Given the description of an element on the screen output the (x, y) to click on. 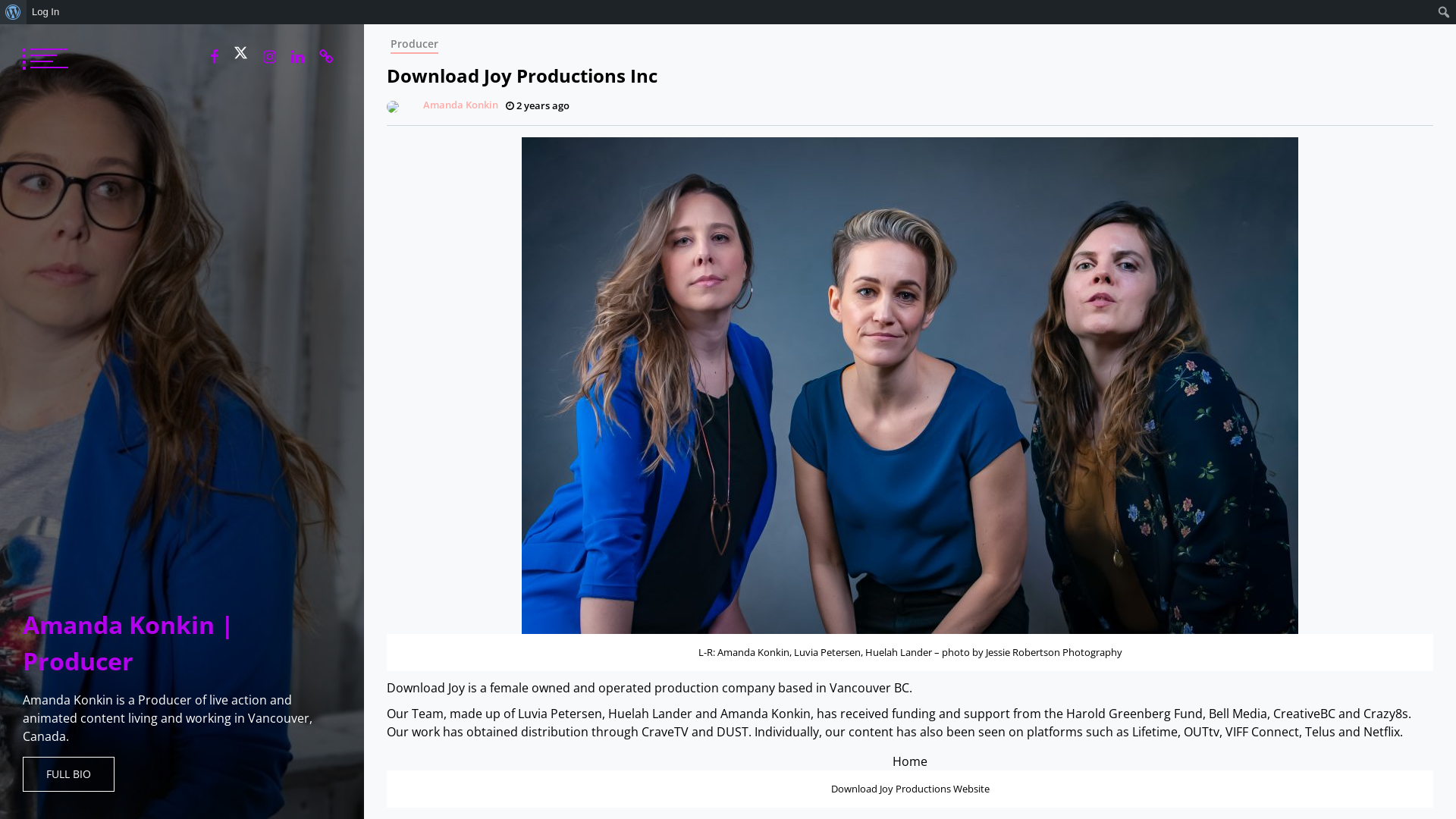
Log In Element type: text (45, 12)
Amanda Konkin | Producer Element type: text (128, 642)
Facebook Element type: text (213, 56)
Linked In Element type: text (297, 56)
Home Element type: text (909, 761)
Instagram Element type: text (269, 56)
Producer Element type: text (414, 43)
Email Element type: text (326, 56)
Twitter Element type: text (240, 52)
Skip to content Element type: text (363, 23)
Amanda Konkin Element type: text (442, 104)
FULL BIO Element type: text (68, 773)
Search Element type: text (16, 12)
